Given the description of an element on the screen output the (x, y) to click on. 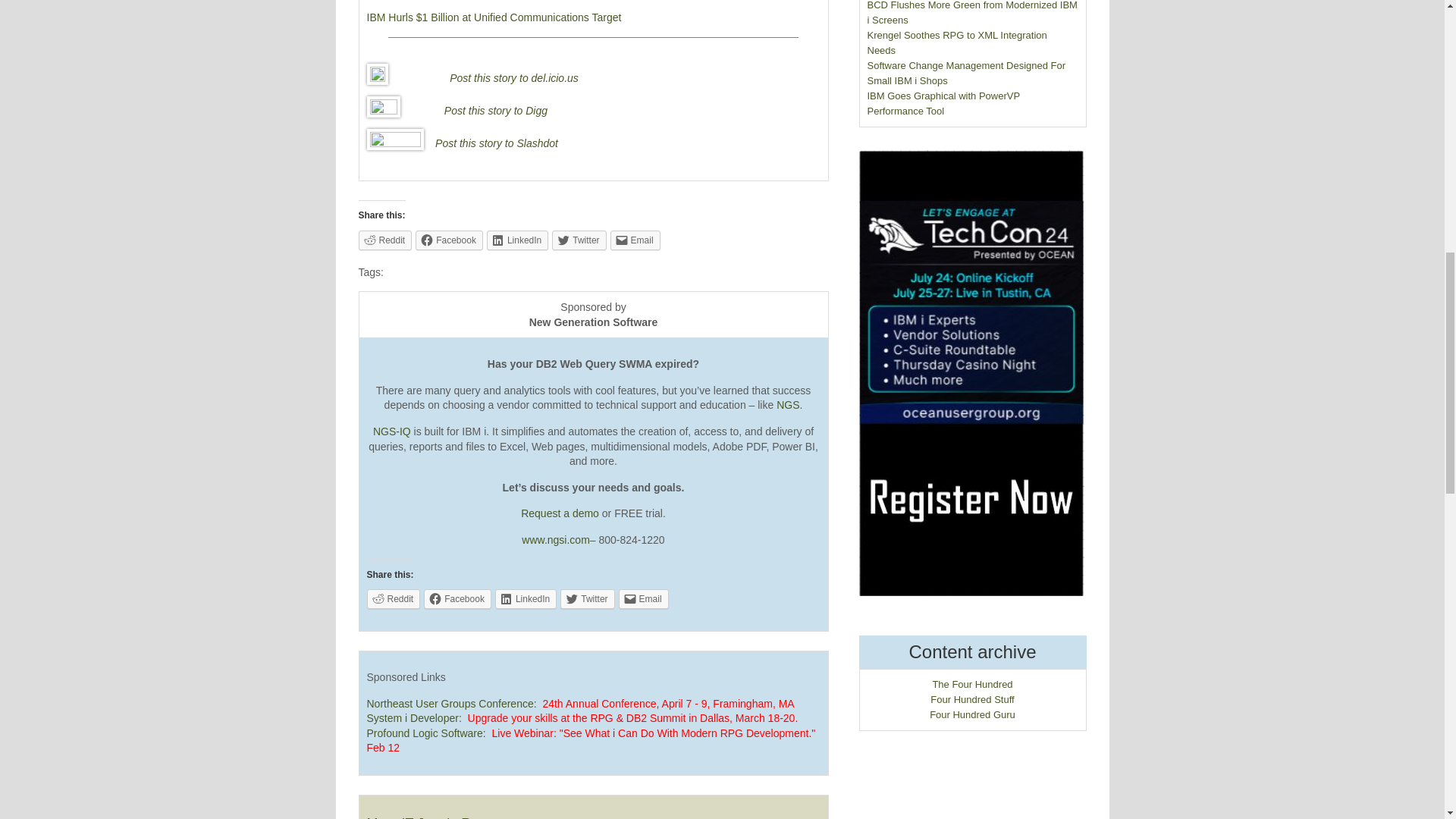
Post this story to Digg (495, 110)
www.ngsi.com (555, 539)
Click to share on LinkedIn (517, 240)
Twitter (578, 240)
Email (635, 240)
Reddit (393, 598)
Click to share on Twitter (578, 240)
NGS (787, 404)
Click to email a link to a friend (643, 598)
Facebook (448, 240)
